Given the description of an element on the screen output the (x, y) to click on. 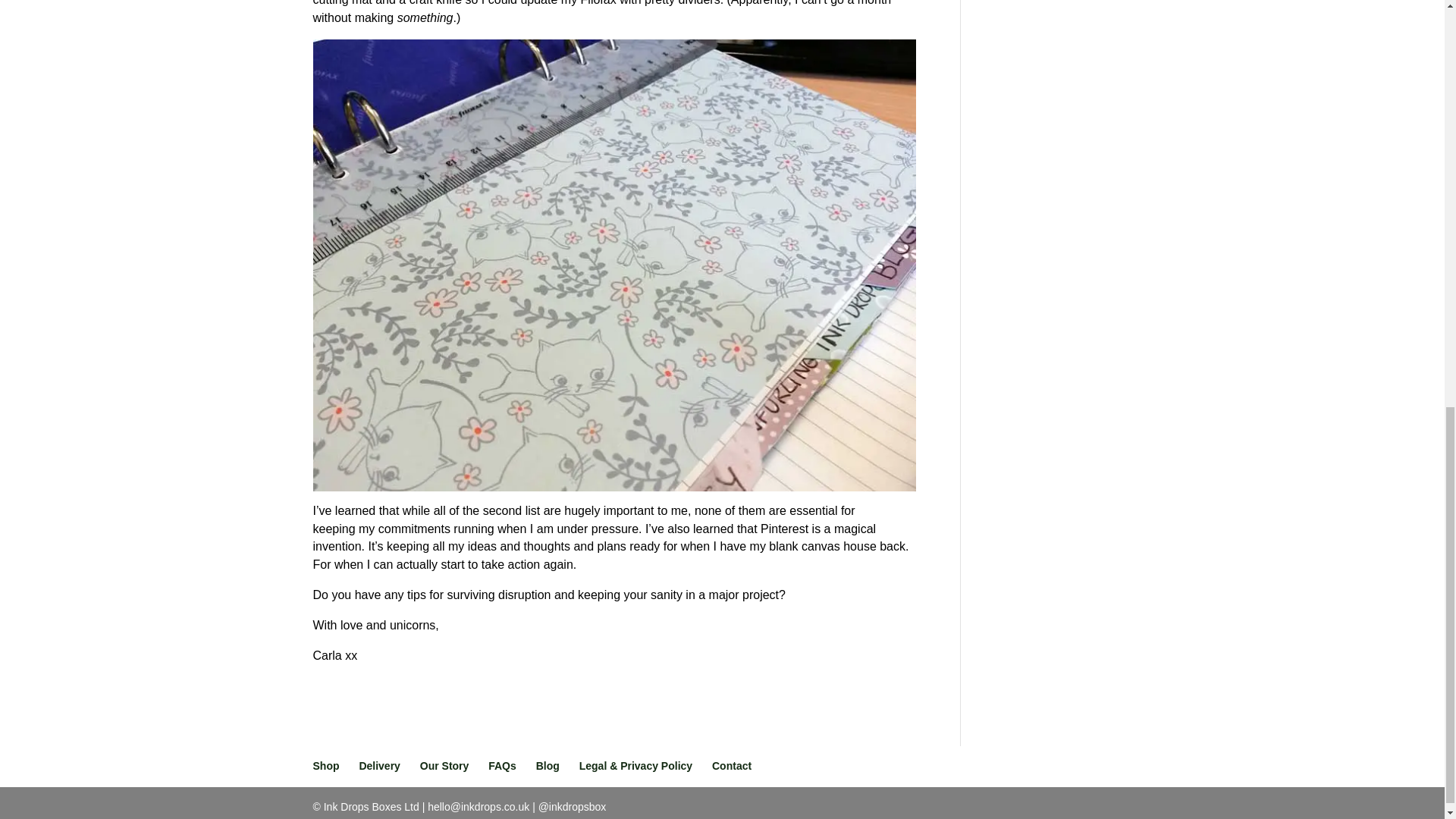
Shop (326, 766)
Our Story (444, 766)
Blog (547, 766)
Contact (731, 766)
FAQs (501, 766)
Delivery (378, 766)
